Given the description of an element on the screen output the (x, y) to click on. 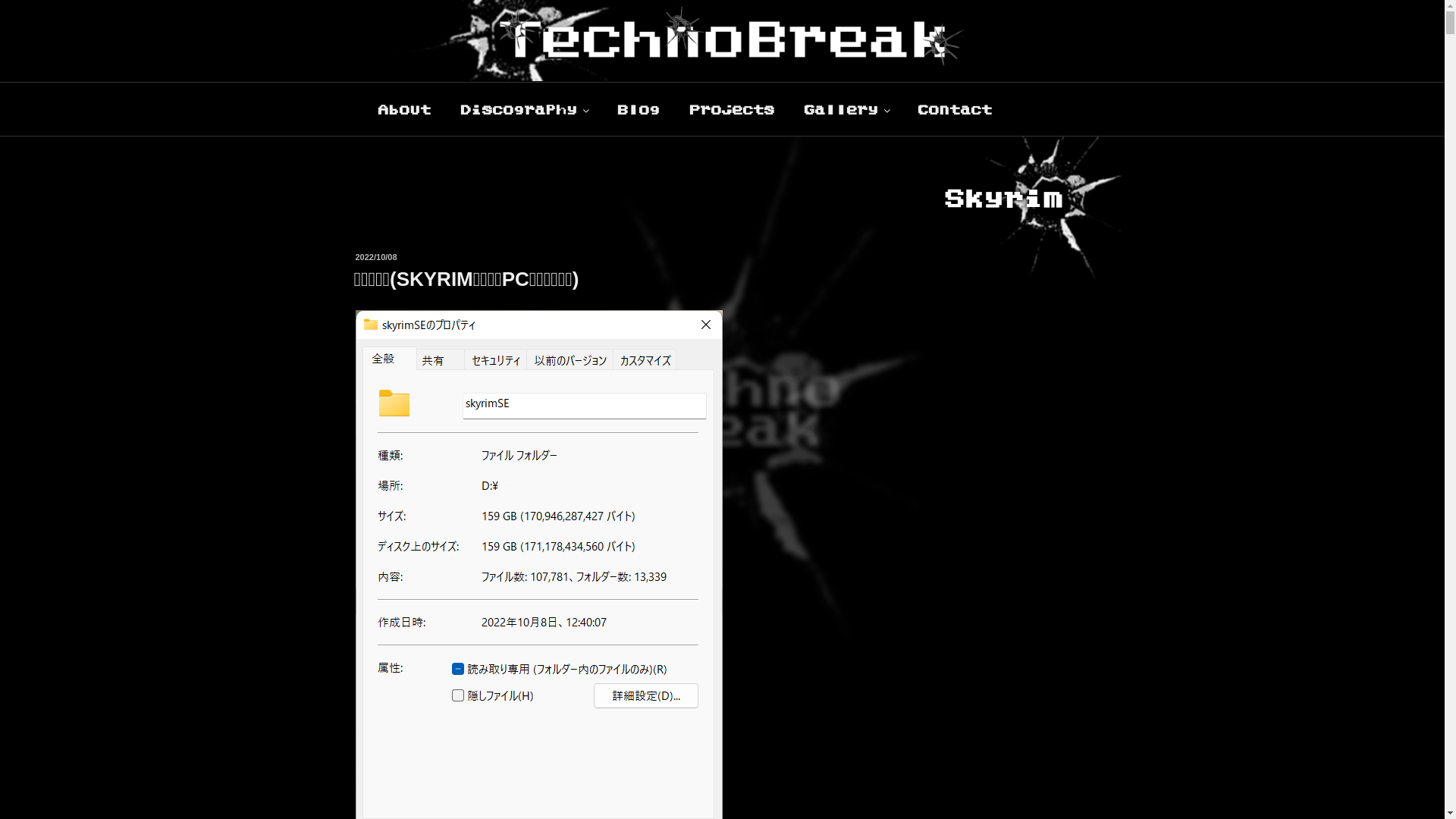
Discography Element type: text (523, 109)
2022/10/08 Element type: text (375, 256)
Gallery Element type: text (845, 109)
Contact Element type: text (954, 109)
Projects Element type: text (731, 109)
Blog Element type: text (637, 109)
About Element type: text (403, 109)
